Given the description of an element on the screen output the (x, y) to click on. 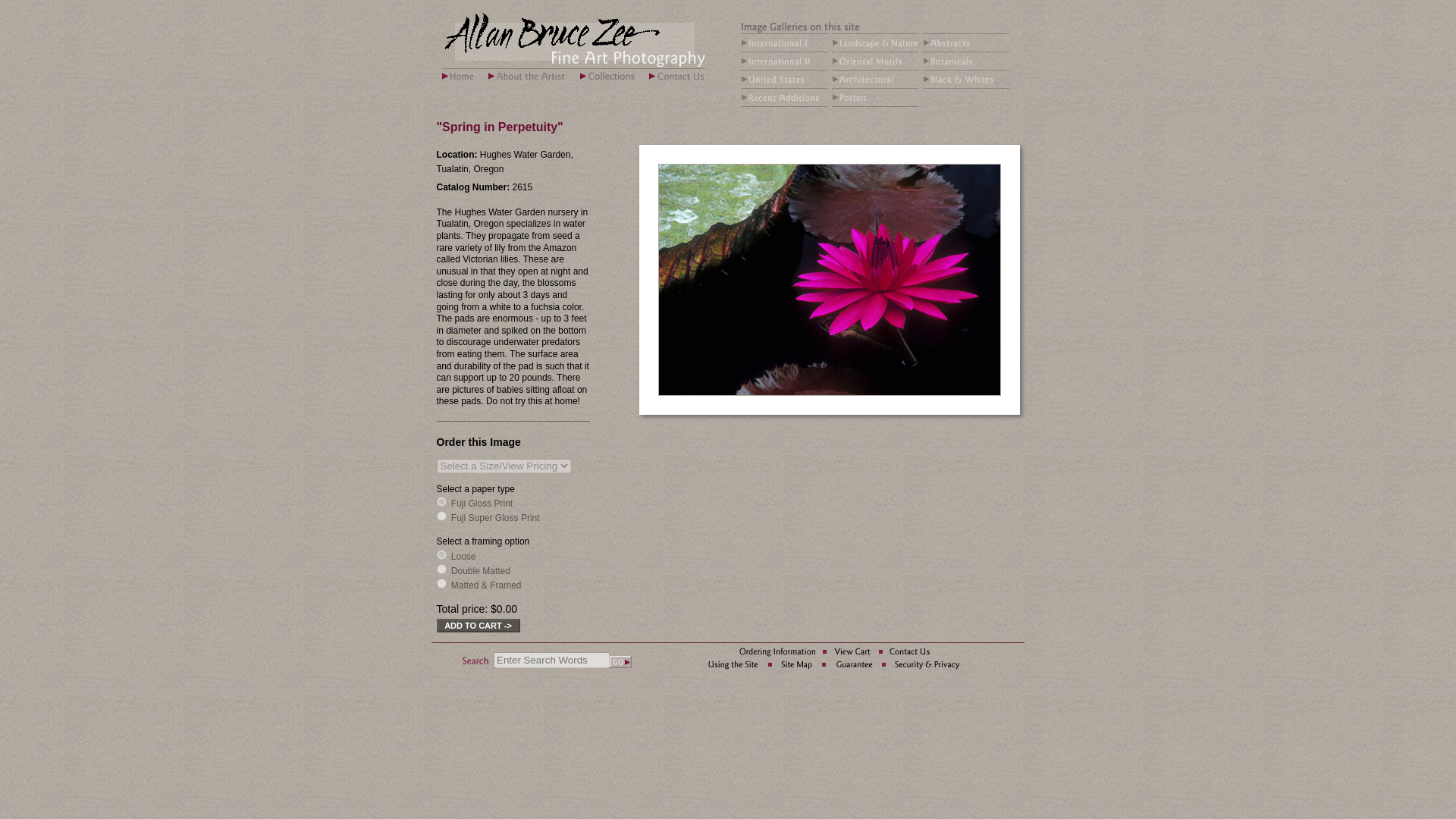
2 (441, 515)
3 (441, 583)
2 (441, 569)
1 (441, 554)
1 (441, 501)
